Given the description of an element on the screen output the (x, y) to click on. 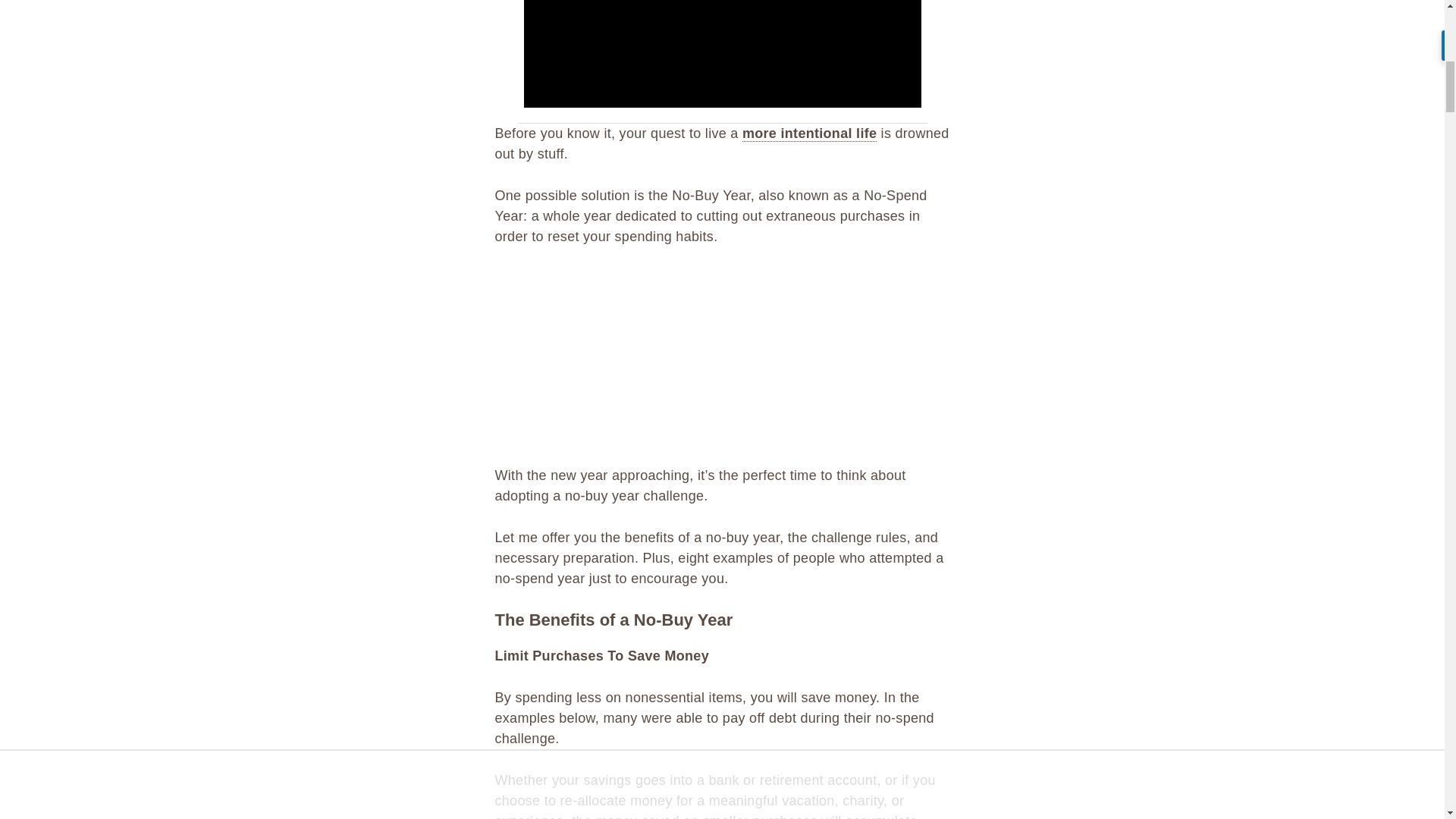
more intentional life (809, 133)
